Given the description of an element on the screen output the (x, y) to click on. 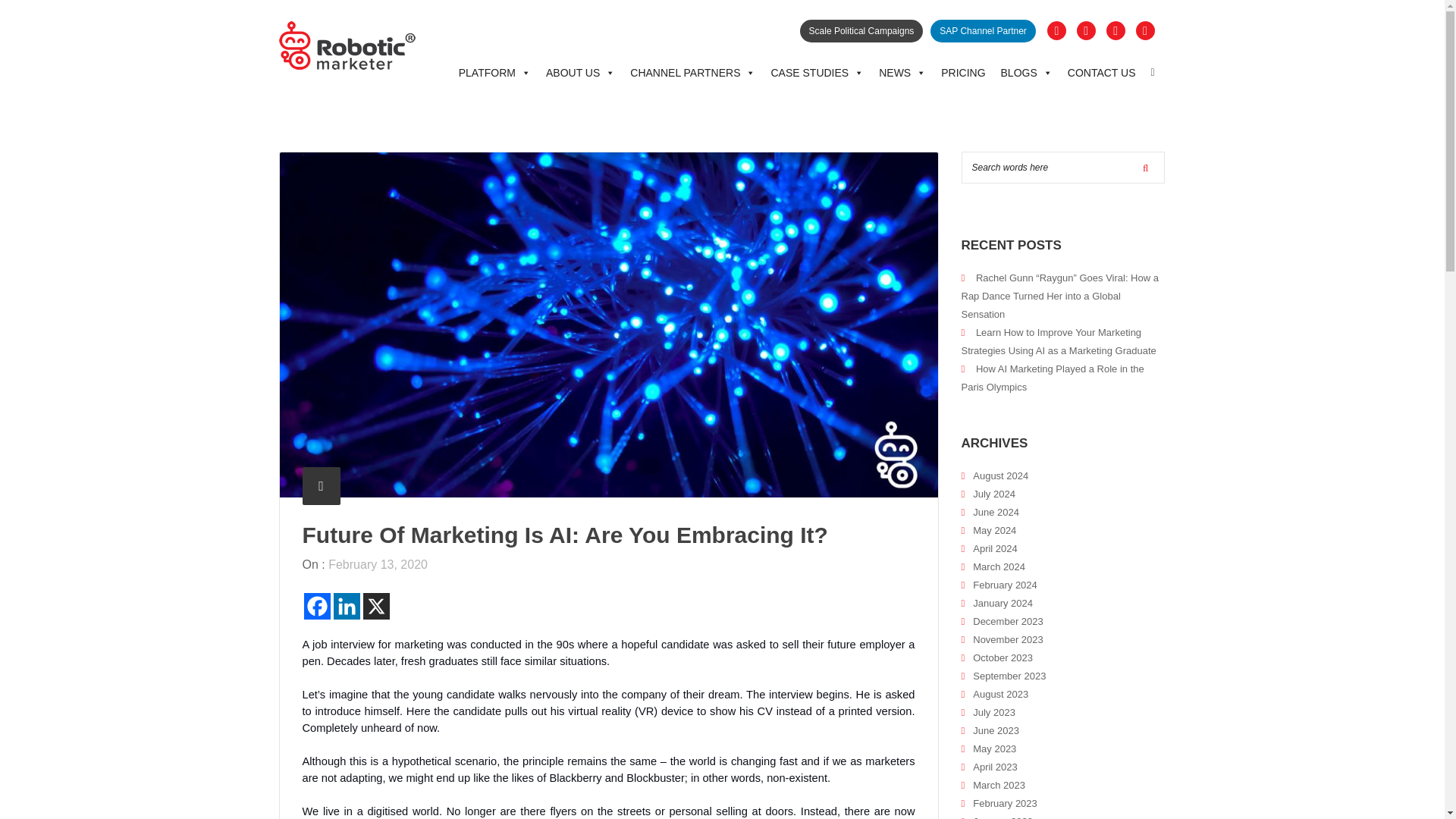
SAP Channel Partner (982, 30)
CHANNEL PARTNERS (692, 72)
PLATFORM (494, 72)
Linkedin (346, 605)
Scale Political Campaigns (861, 30)
CASE STUDIES (816, 72)
Facebook (316, 605)
NEWS (901, 72)
X (375, 605)
ABOUT US (580, 72)
